Given the description of an element on the screen output the (x, y) to click on. 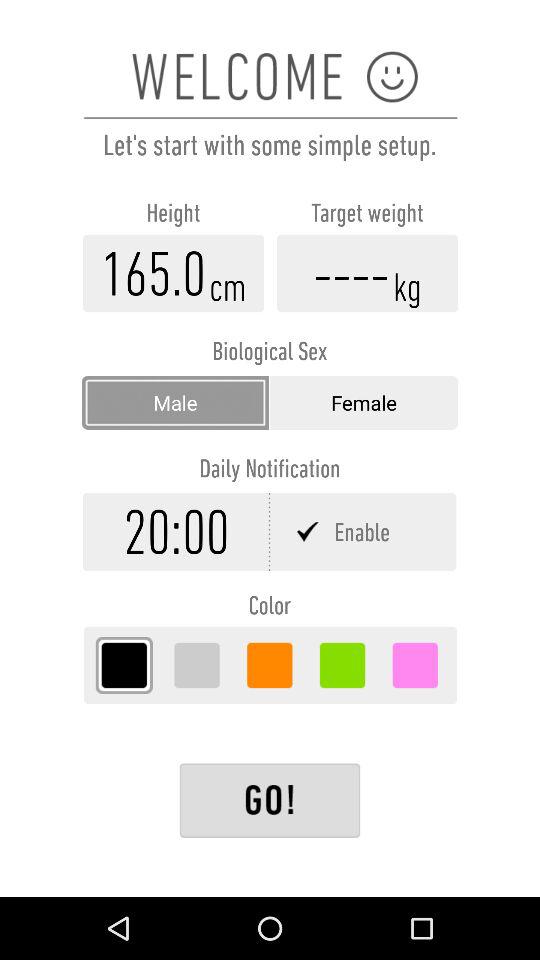
choose color (269, 665)
